Given the description of an element on the screen output the (x, y) to click on. 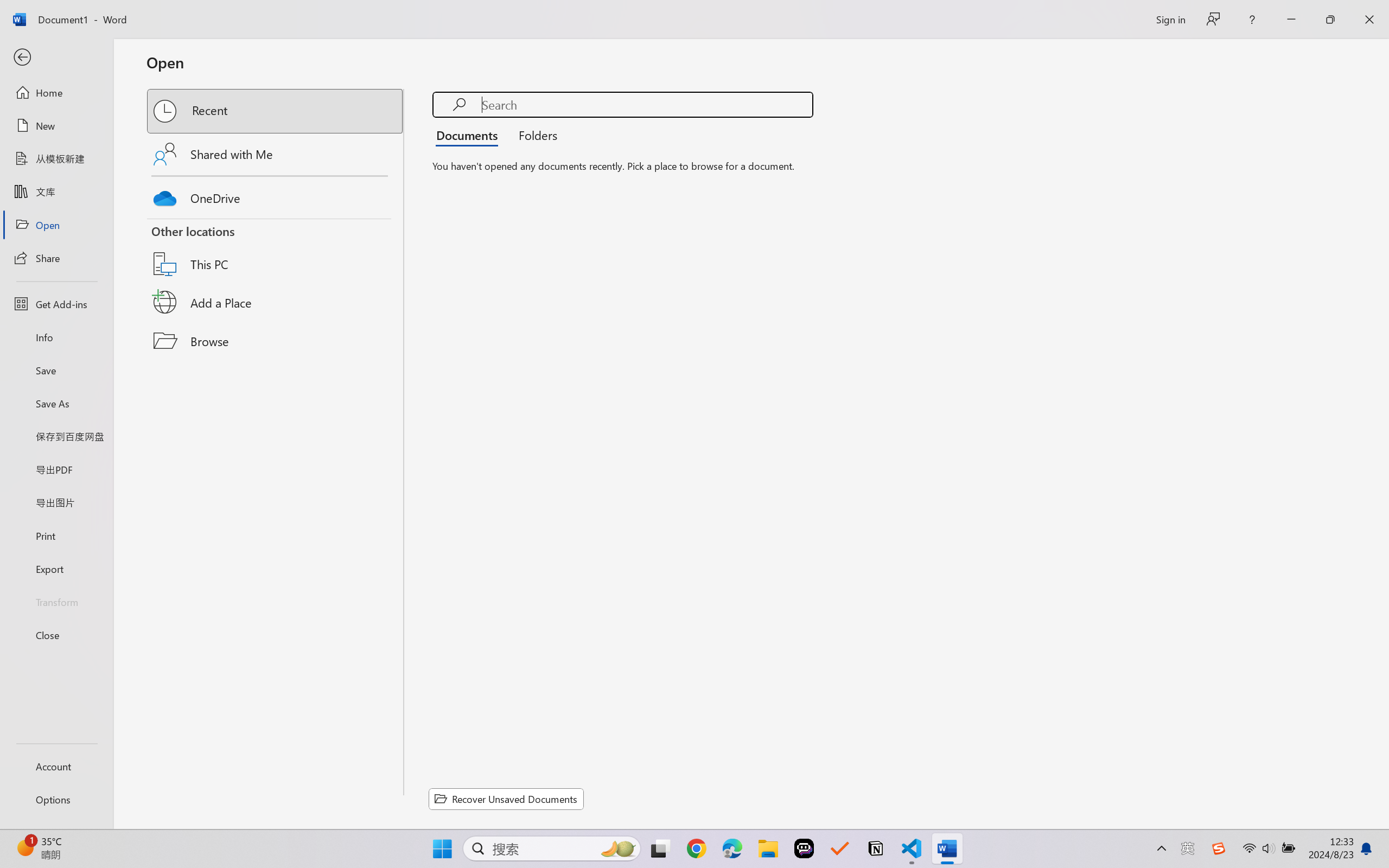
Recent (275, 110)
This PC (275, 249)
Shared with Me (275, 153)
Info (56, 337)
Recover Unsaved Documents (506, 798)
Documents (469, 134)
